Given the description of an element on the screen output the (x, y) to click on. 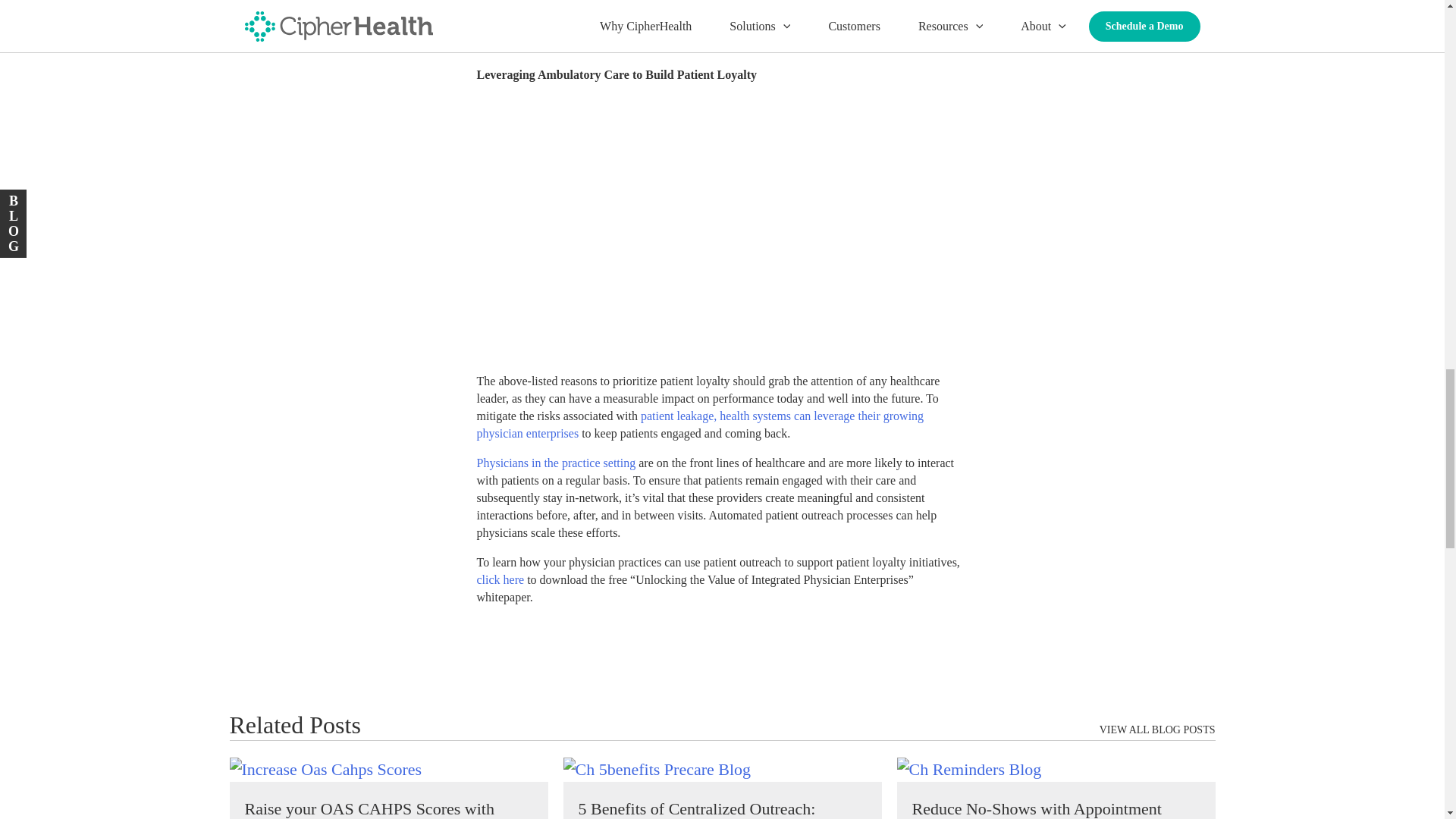
Ch Reminders Blog (968, 768)
Ch 5benefits Precare Blog (656, 768)
Increase Oas Cahps Scores (325, 768)
